Given the description of an element on the screen output the (x, y) to click on. 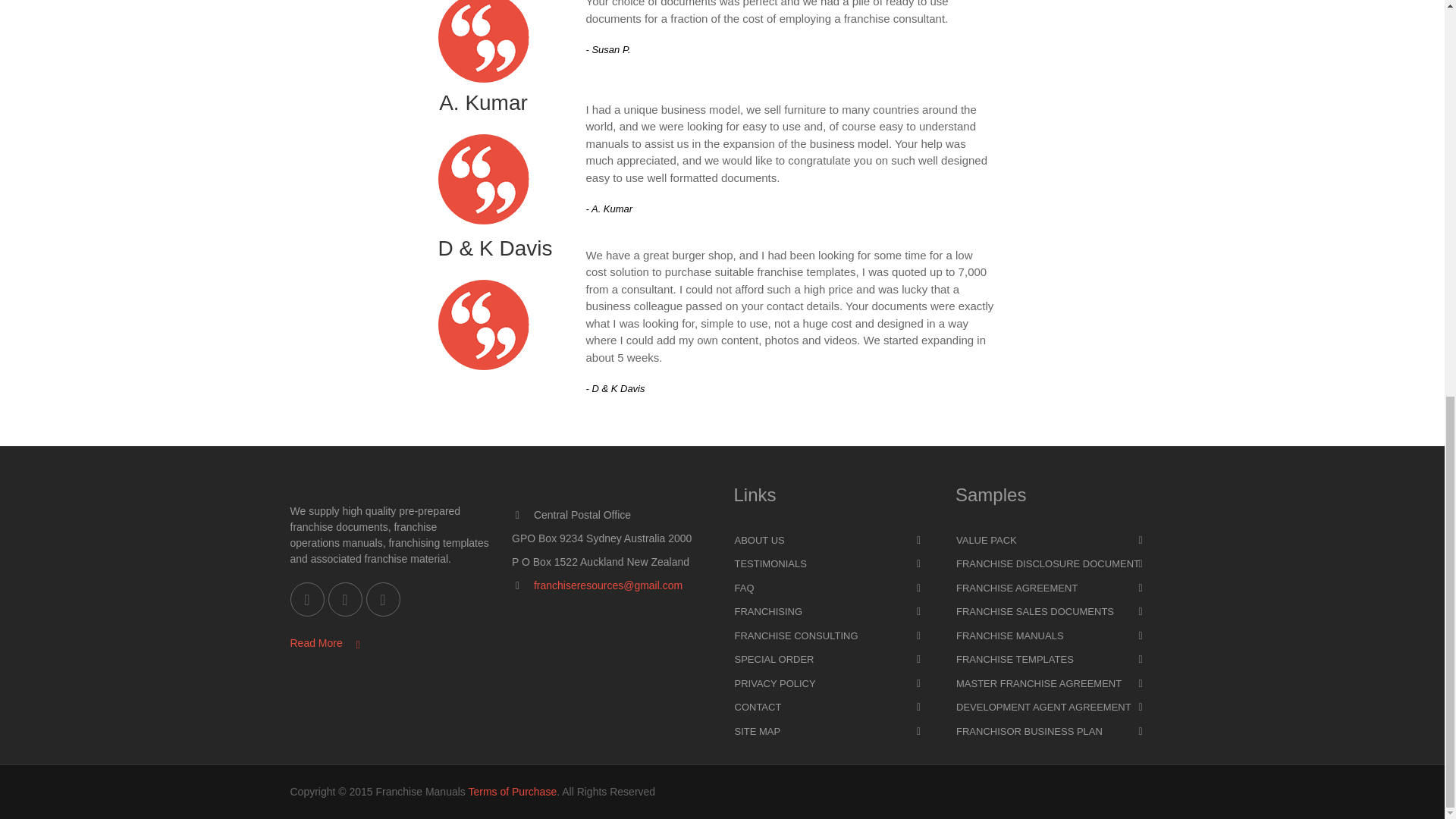
FAQ (833, 588)
CONTACT (833, 707)
SPECIAL ORDER (833, 659)
FRANCHISE CONSULTING (833, 635)
Read More (324, 643)
FRANCHISE AGREEMENT (1054, 588)
FRANCHISE MANUALS (1054, 635)
MASTER FRANCHISE AGREEMENT (1054, 683)
VALUE PACK (1054, 540)
FRANCHISE SALES DOCUMENTS (1054, 611)
FRANCHISE TEMPLATES (1054, 659)
SITE MAP (833, 731)
FRANCHISING (833, 611)
FRANCHISE DISCLOSURE DOCUMENT (1054, 563)
ABOUT US (833, 540)
